Given the description of an element on the screen output the (x, y) to click on. 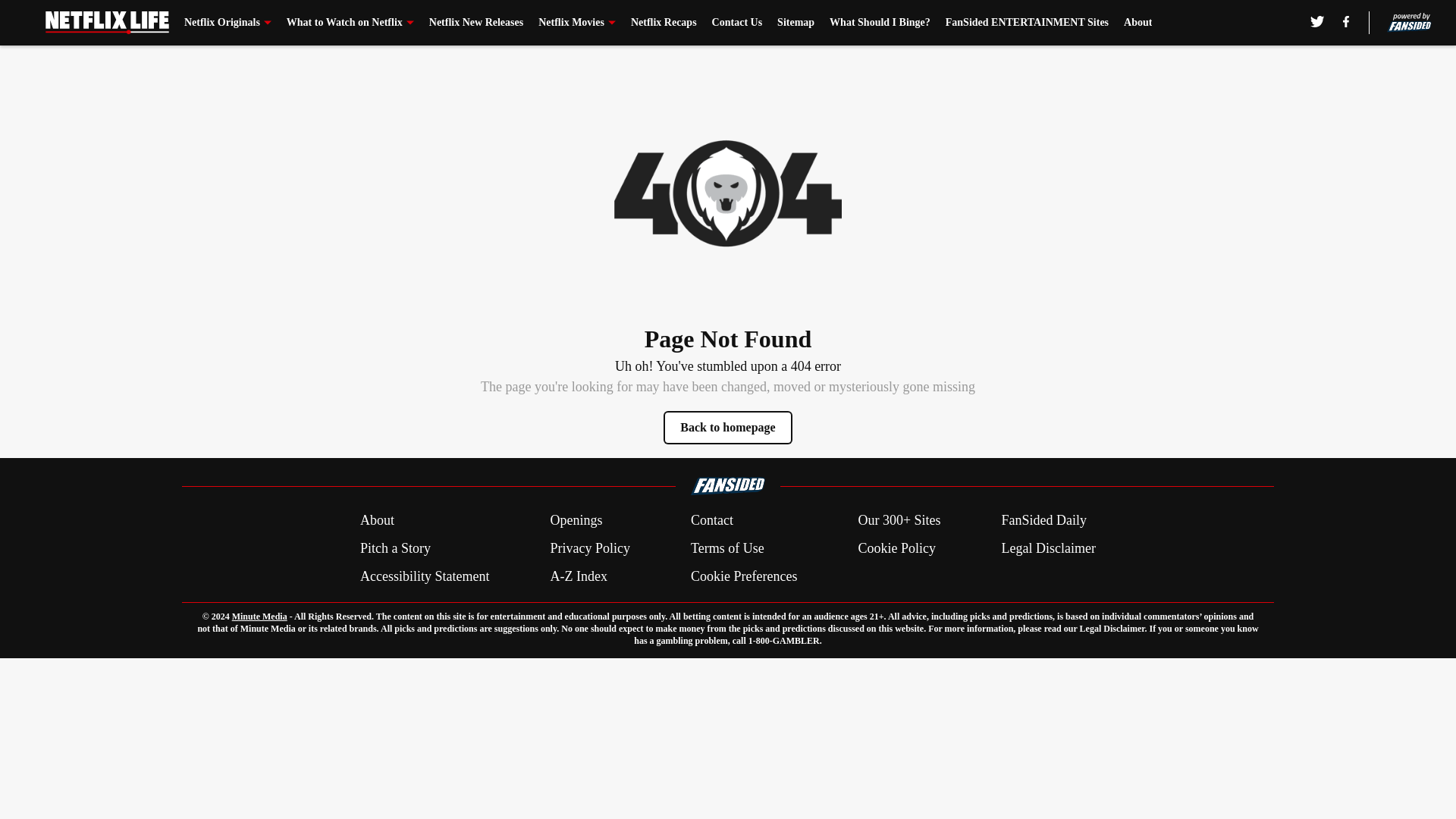
Error image (727, 193)
Netflix Originals (227, 22)
What to Watch on Netflix (349, 22)
Netflix Movies (576, 22)
Netflix New Releases (475, 22)
